Given the description of an element on the screen output the (x, y) to click on. 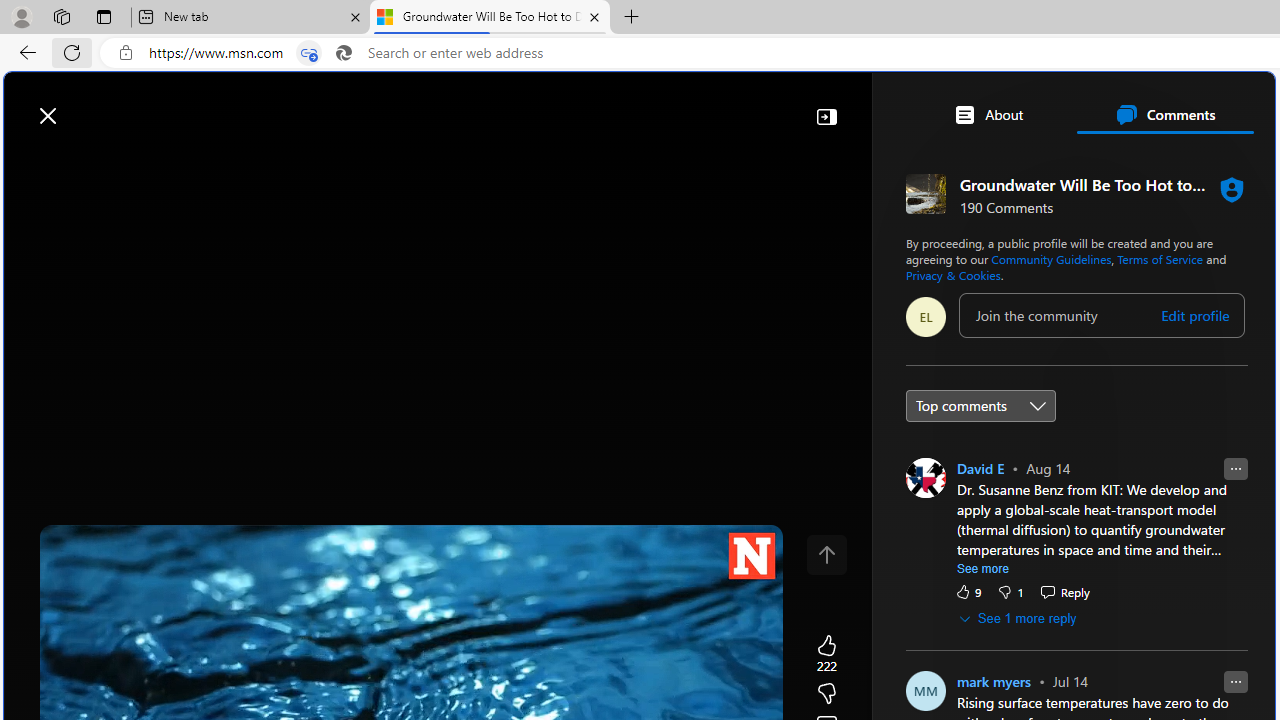
Profile Picture (924, 477)
